Given the description of an element on the screen output the (x, y) to click on. 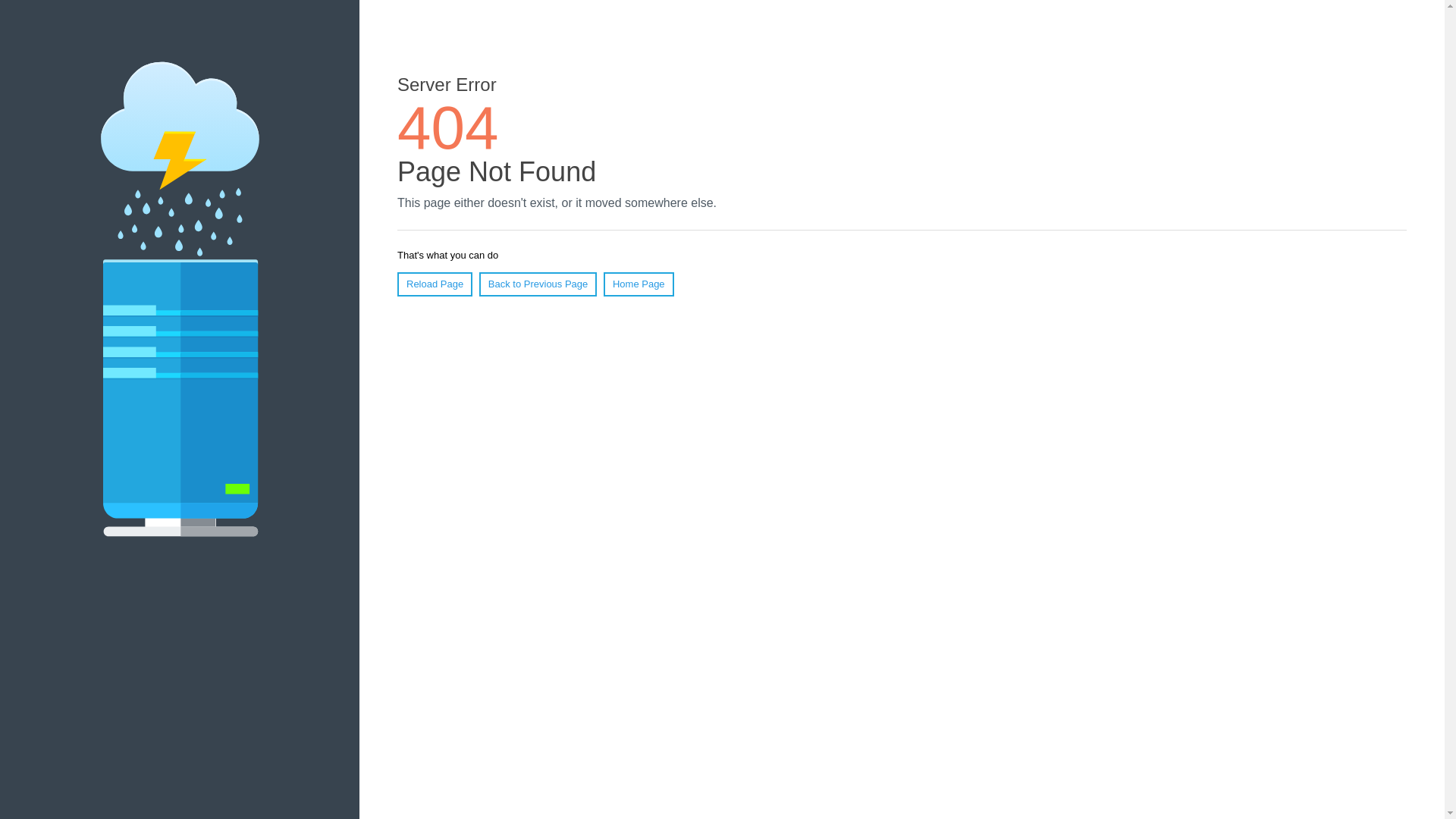
Home Page (639, 283)
Reload Page (434, 283)
Back to Previous Page (537, 283)
